Given the description of an element on the screen output the (x, y) to click on. 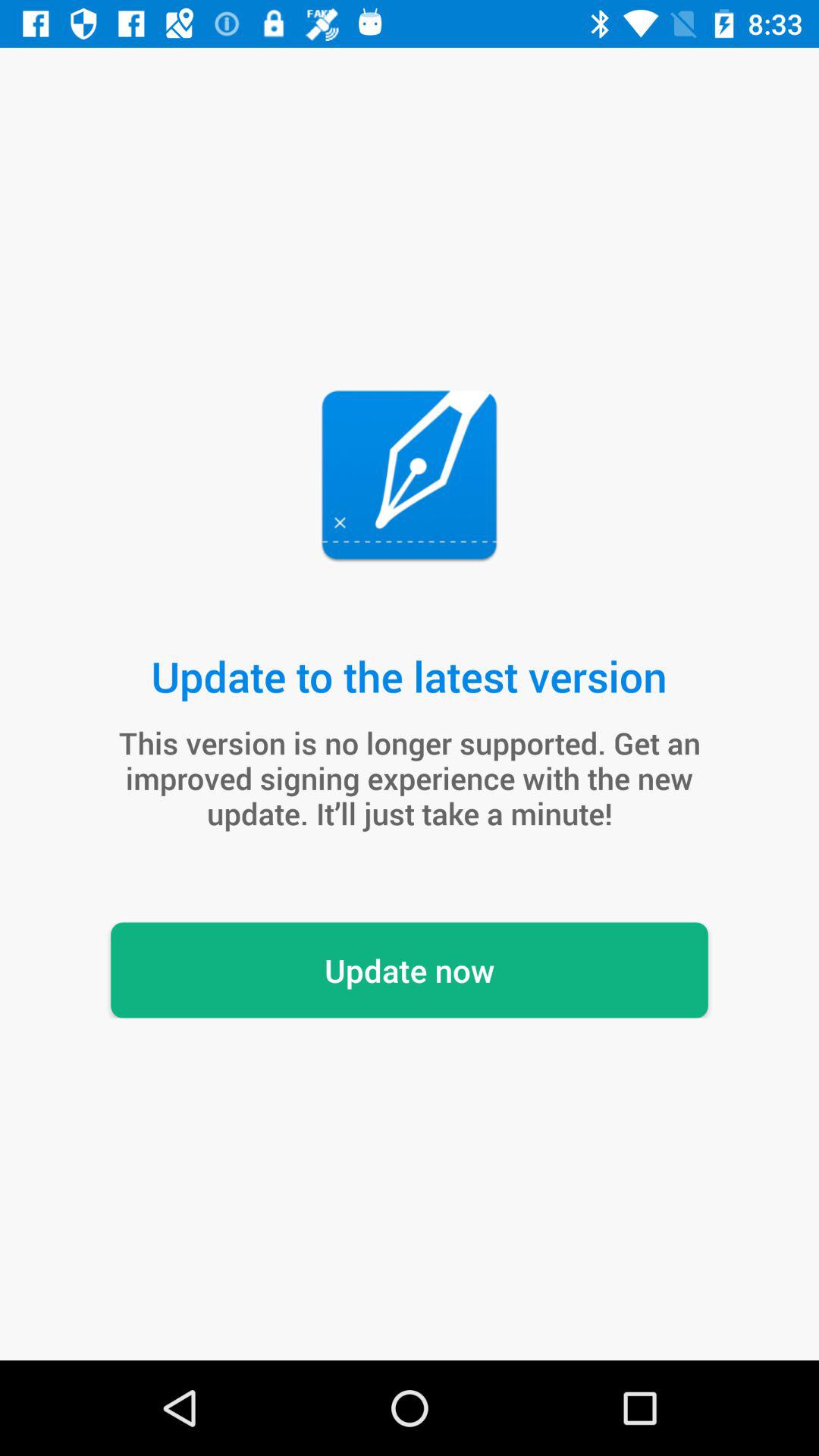
press the update now (409, 970)
